Given the description of an element on the screen output the (x, y) to click on. 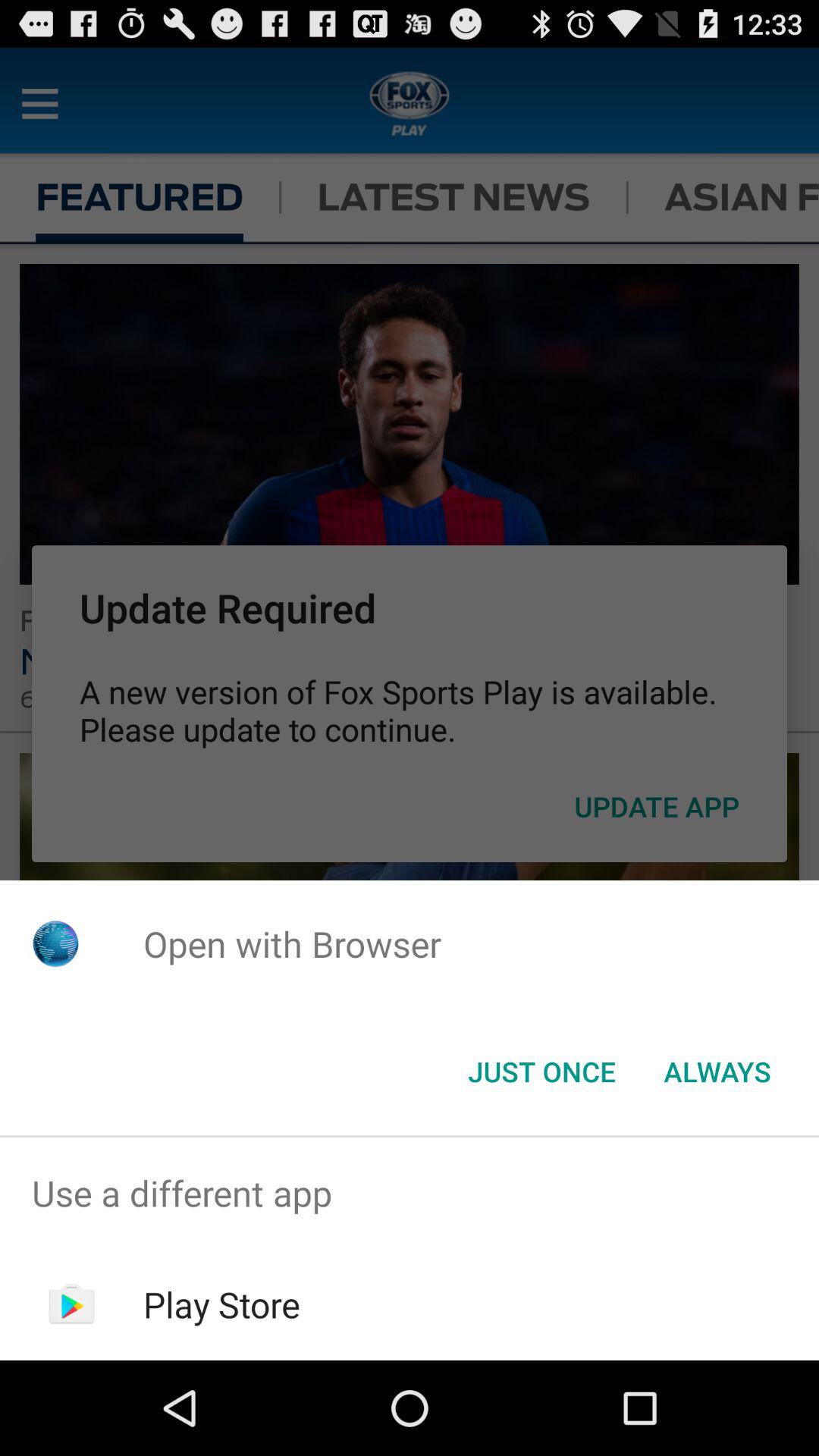
scroll to the always item (717, 1071)
